Given the description of an element on the screen output the (x, y) to click on. 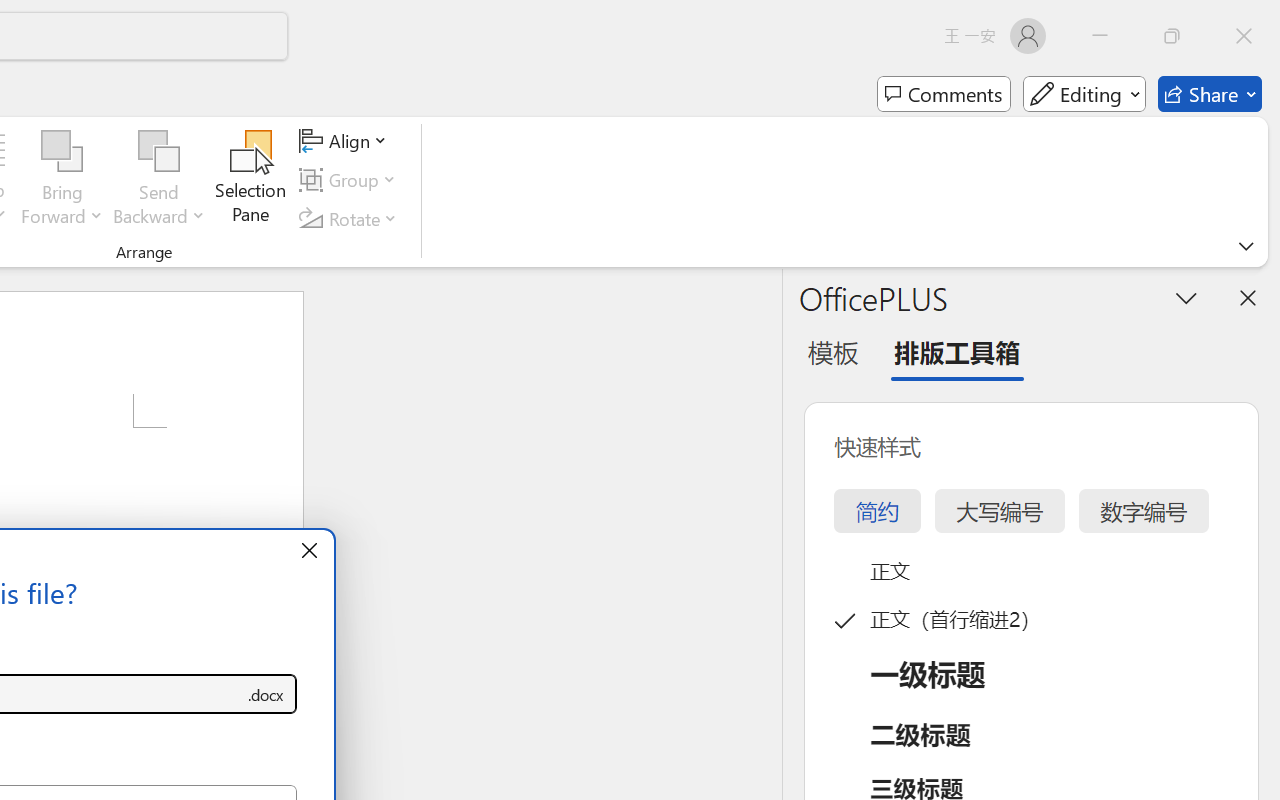
Group (351, 179)
Align (346, 141)
Send Backward (159, 179)
